Given the description of an element on the screen output the (x, y) to click on. 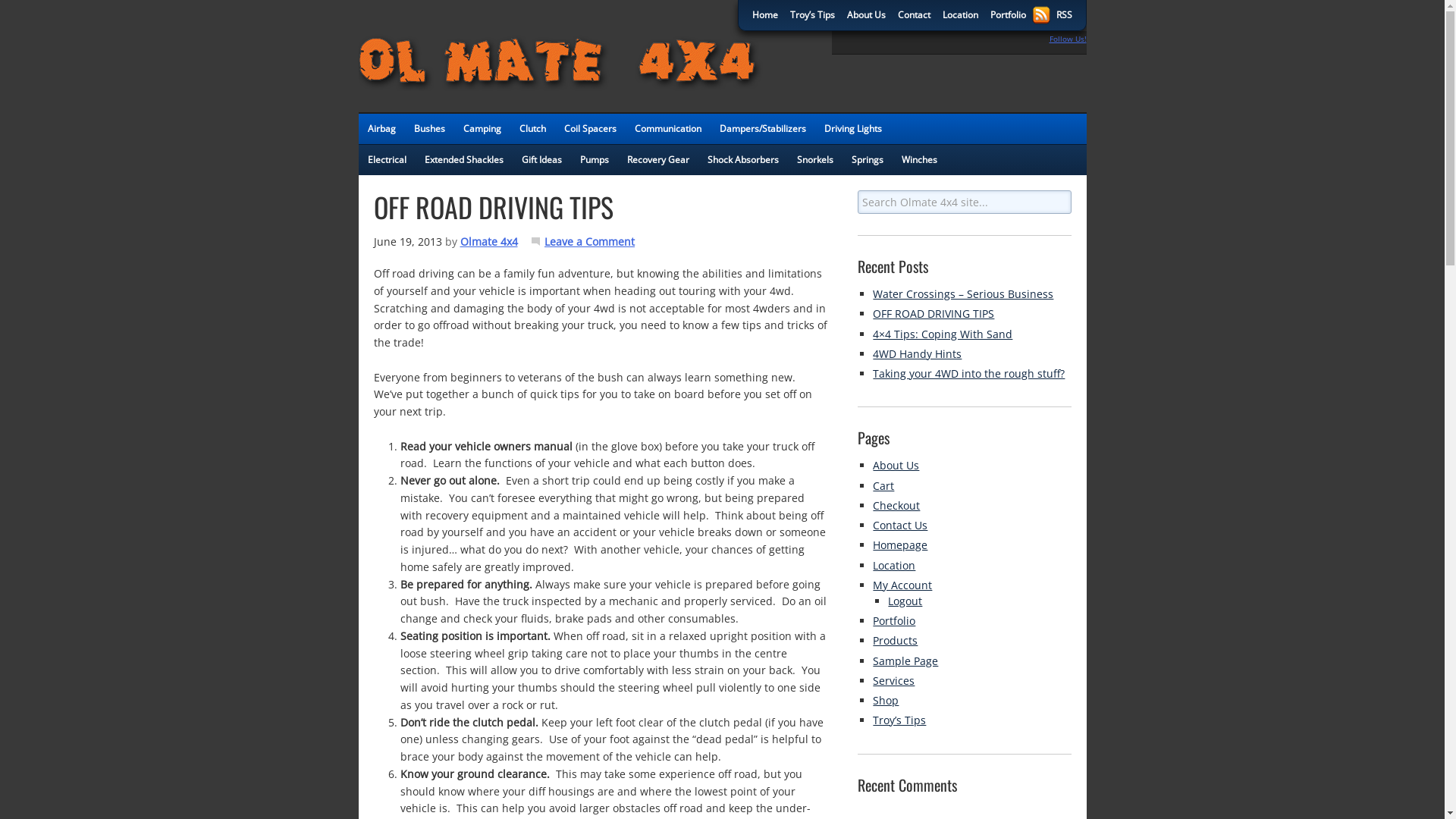
Dampers/Stabilizers Element type: text (761, 128)
Olmate 4x4 Element type: text (488, 241)
Homepage Element type: text (899, 544)
Olmate 4x4 Element type: text (503, 45)
Checkout Element type: text (895, 505)
OFF ROAD DRIVING TIPS Element type: text (933, 313)
Winches Element type: text (918, 159)
Products Element type: text (894, 640)
Recovery Gear Element type: text (657, 159)
Springs Element type: text (866, 159)
Contact Element type: text (913, 15)
Portfolio Element type: text (1008, 15)
Contact Us Element type: text (899, 524)
Search Element type: text (1070, 189)
Airbag Element type: text (380, 128)
Follow Us! Element type: text (1067, 38)
Bushes Element type: text (429, 128)
4WD Handy Hints Element type: text (916, 353)
Leave a Comment Element type: text (589, 241)
Portfolio Element type: text (893, 620)
Pumps Element type: text (593, 159)
Communication Element type: text (666, 128)
About Us Element type: text (865, 15)
Cart Element type: text (883, 484)
Logout Element type: text (905, 600)
Home Element type: text (765, 15)
Shock Absorbers Element type: text (742, 159)
My Account Element type: text (901, 584)
Clutch Element type: text (531, 128)
Camping Element type: text (481, 128)
Electrical Element type: text (385, 159)
Coil Spacers Element type: text (590, 128)
Snorkels Element type: text (814, 159)
About Us Element type: text (895, 465)
Extended Shackles Element type: text (463, 159)
Location Element type: text (959, 15)
Location Element type: text (893, 565)
Gift Ideas Element type: text (541, 159)
Shop Element type: text (885, 700)
RSS Element type: text (1063, 15)
Driving Lights Element type: text (852, 128)
Services Element type: text (893, 680)
Sample Page Element type: text (905, 660)
Taking your 4WD into the rough stuff? Element type: text (968, 373)
